Given the description of an element on the screen output the (x, y) to click on. 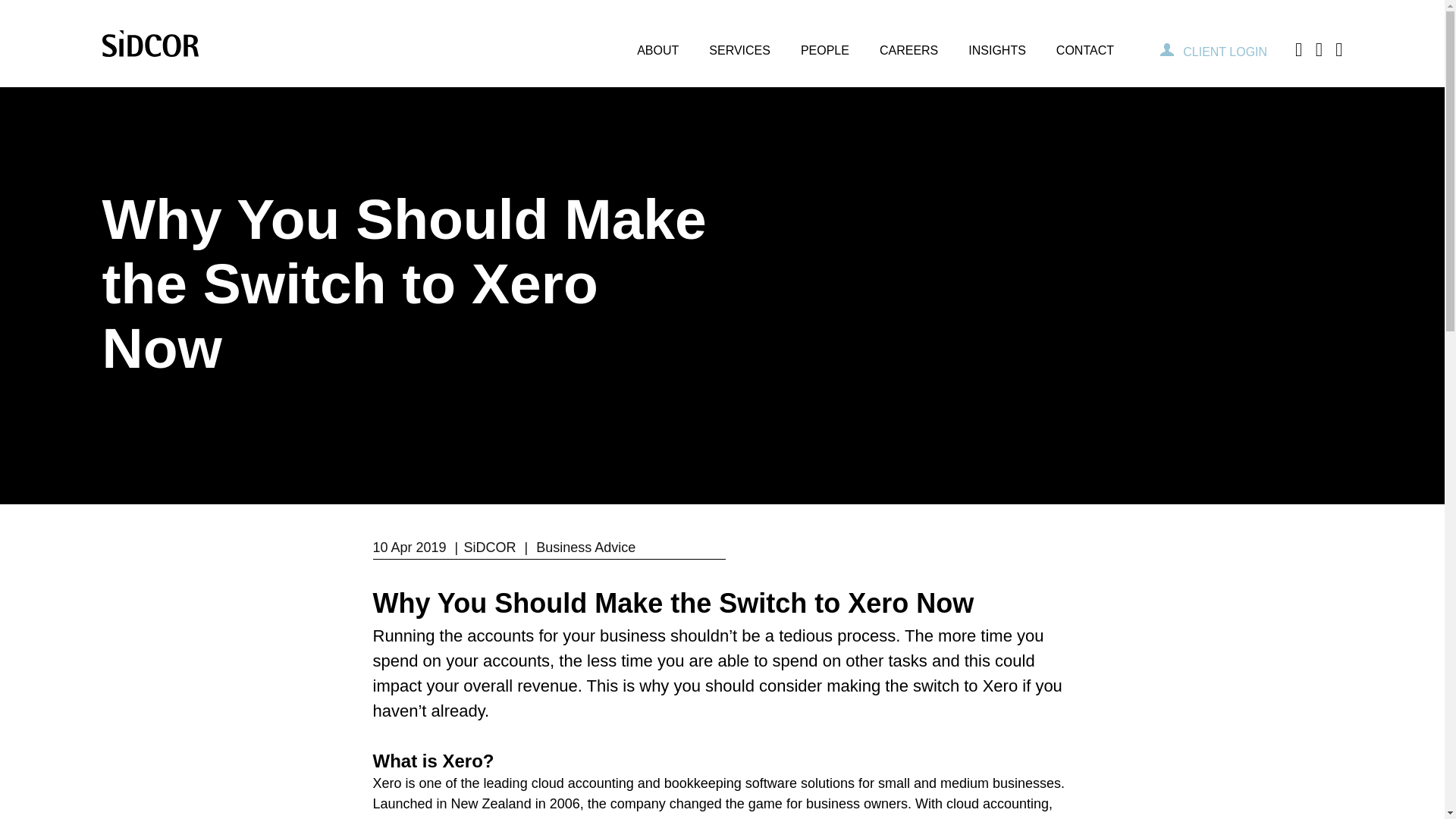
CLIENT LOGIN (1213, 51)
CAREERS (908, 43)
PEOPLE (825, 43)
INSIGHTS (997, 43)
Business Advice (584, 547)
SiDCOR (489, 547)
CONTACT (1085, 43)
SERVICES (740, 43)
